Given the description of an element on the screen output the (x, y) to click on. 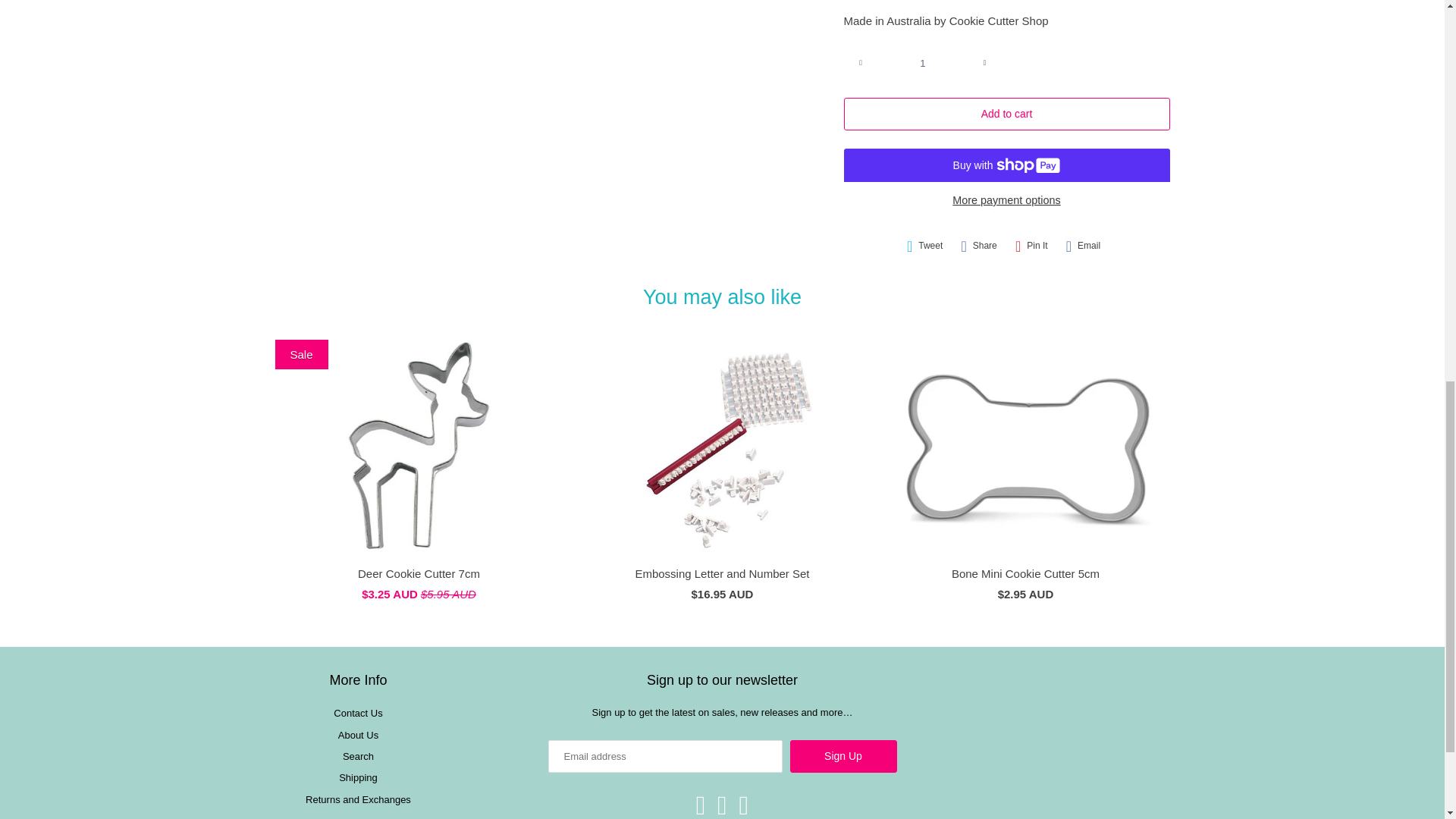
1 (922, 62)
Sign Up (843, 756)
Share this on Facebook (978, 245)
Email this to a friend (1083, 245)
'Oh Baby' with Hearts Fondant Debosser (552, 94)
Share this on Pinterest (1031, 245)
Share this on Twitter (924, 245)
